Given the description of an element on the screen output the (x, y) to click on. 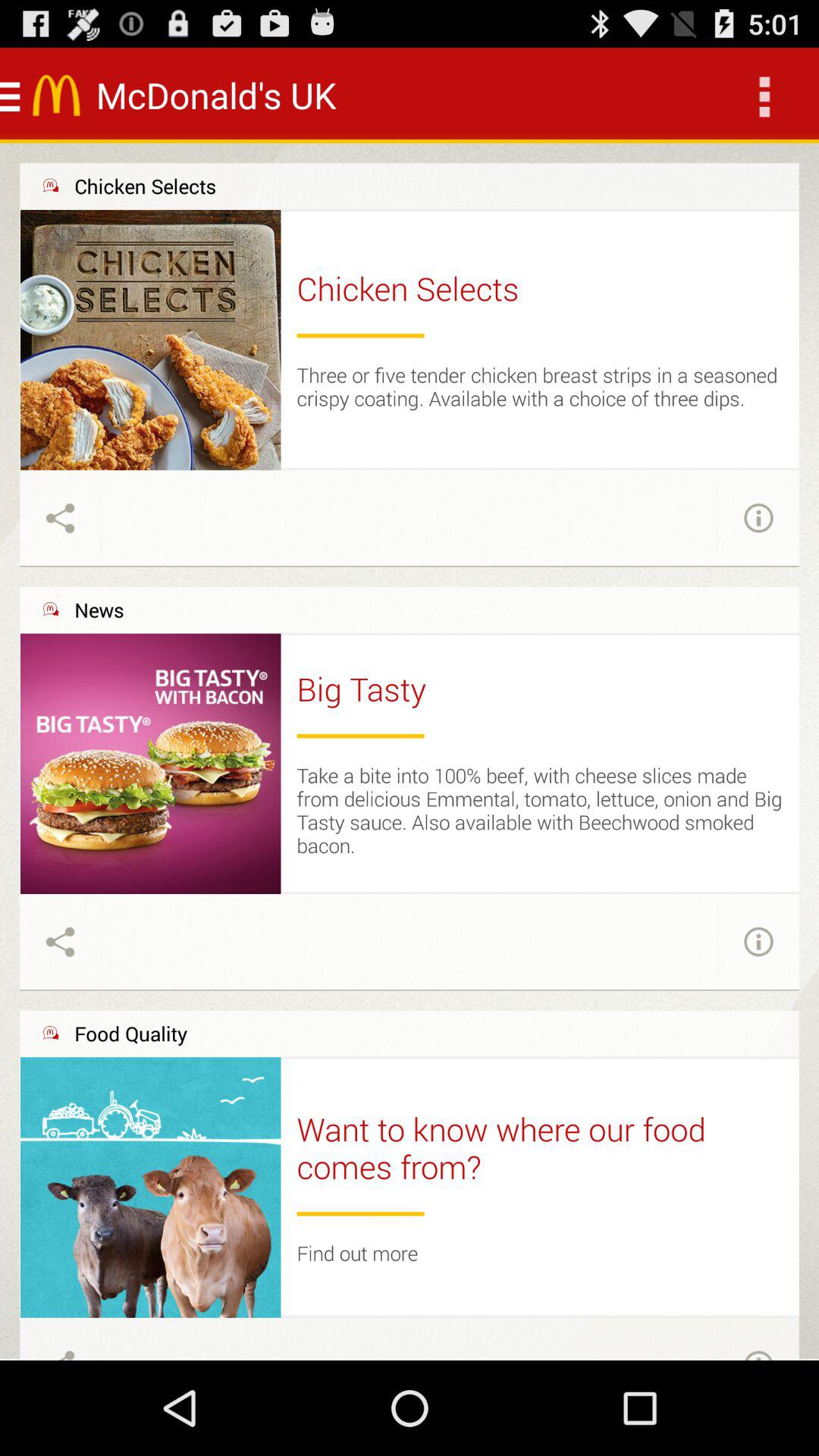
jump until the news item (98, 609)
